Given the description of an element on the screen output the (x, y) to click on. 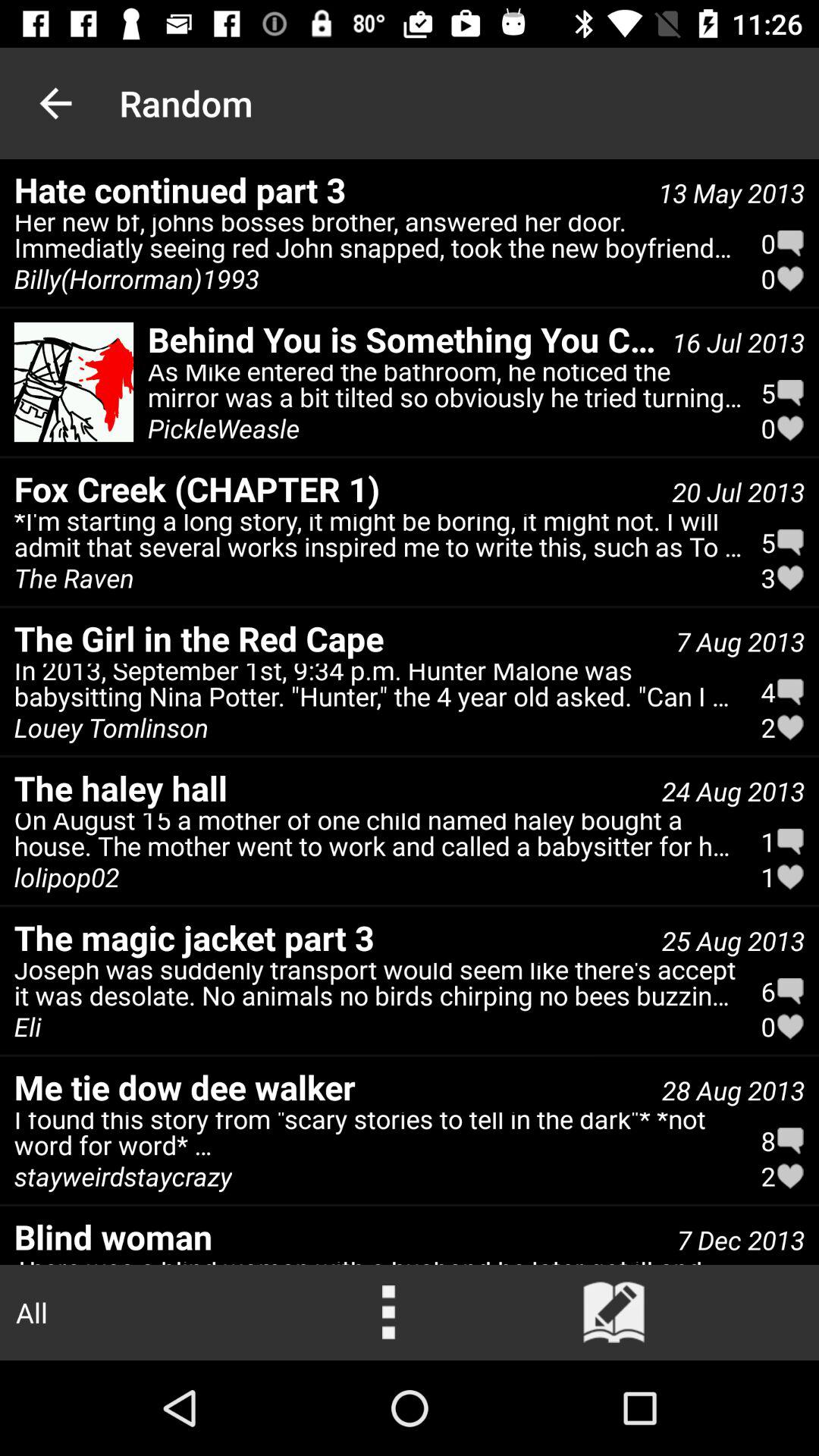
click item below the the haley hall item (378, 838)
